Given the description of an element on the screen output the (x, y) to click on. 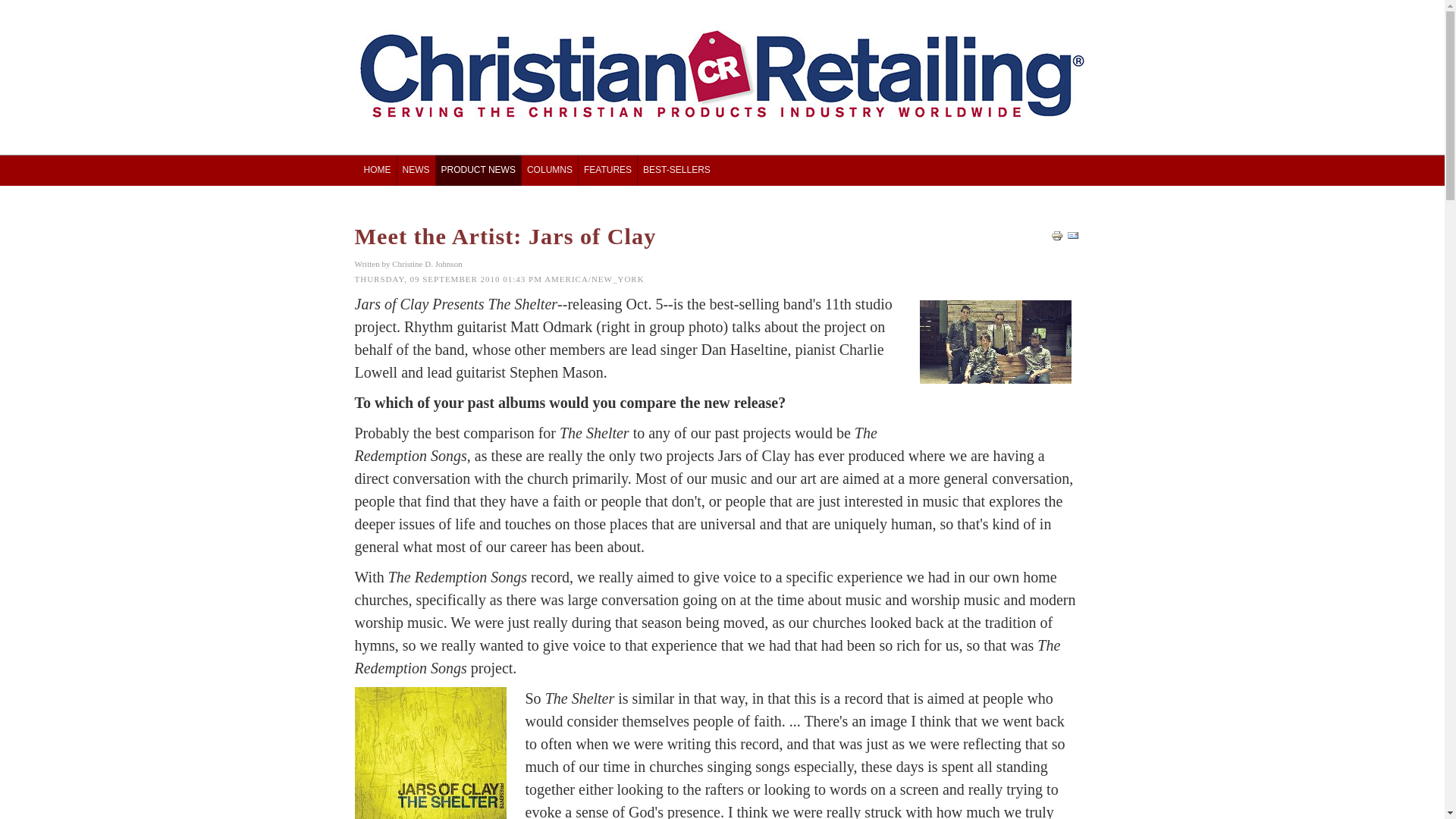
Features (607, 168)
PRODUCT NEWS (477, 168)
Meet the Artist: Jars of Clay (505, 235)
HOME (377, 168)
FEATURES (607, 168)
NEWS (416, 168)
NEWS (416, 168)
Home (377, 168)
PRODUCT NEWS (477, 168)
